Given the description of an element on the screen output the (x, y) to click on. 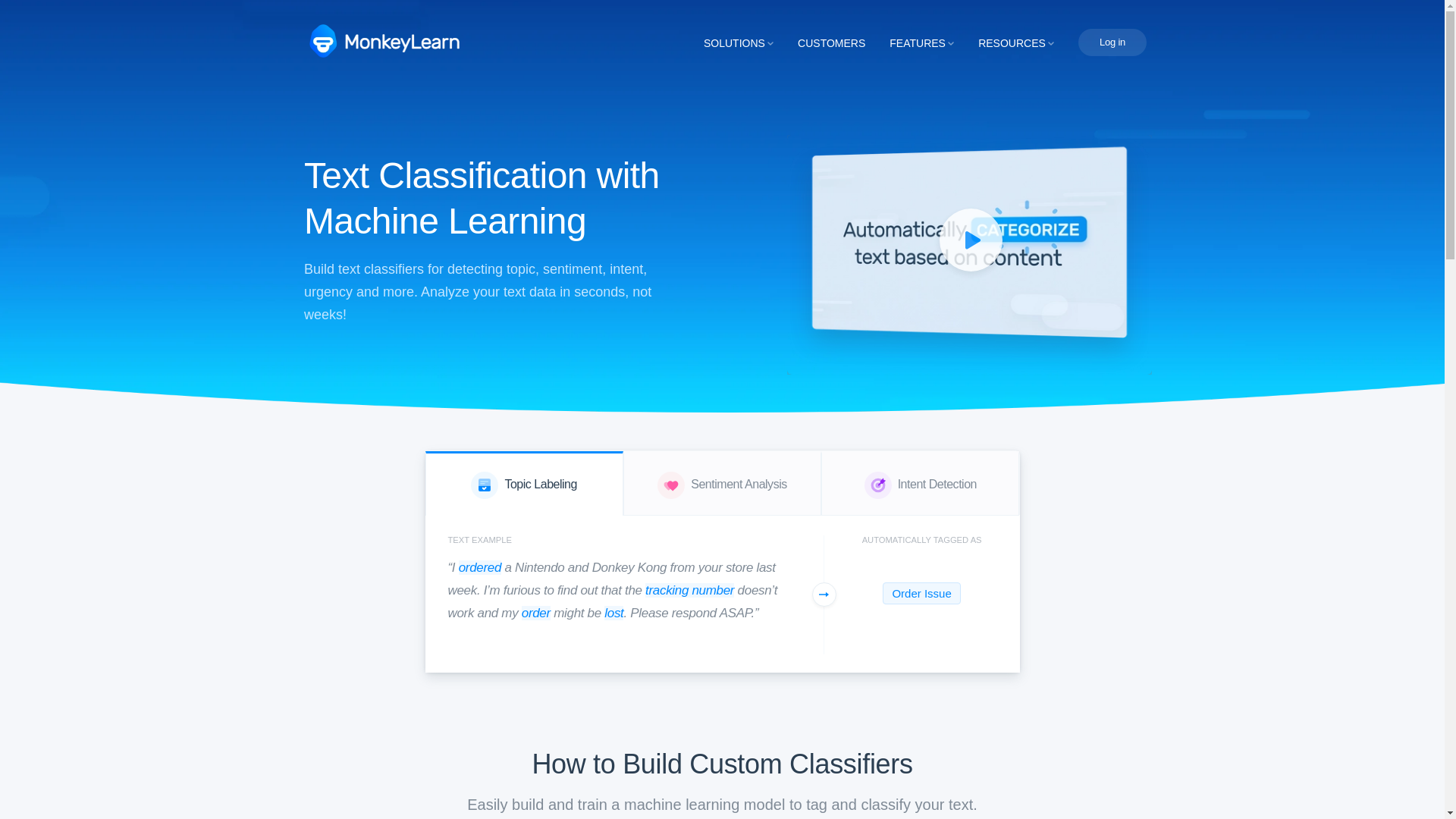
FEATURES (921, 42)
Log in (1112, 42)
RESOURCES (1016, 42)
CUSTOMERS (830, 42)
SOLUTIONS (738, 42)
